Given the description of an element on the screen output the (x, y) to click on. 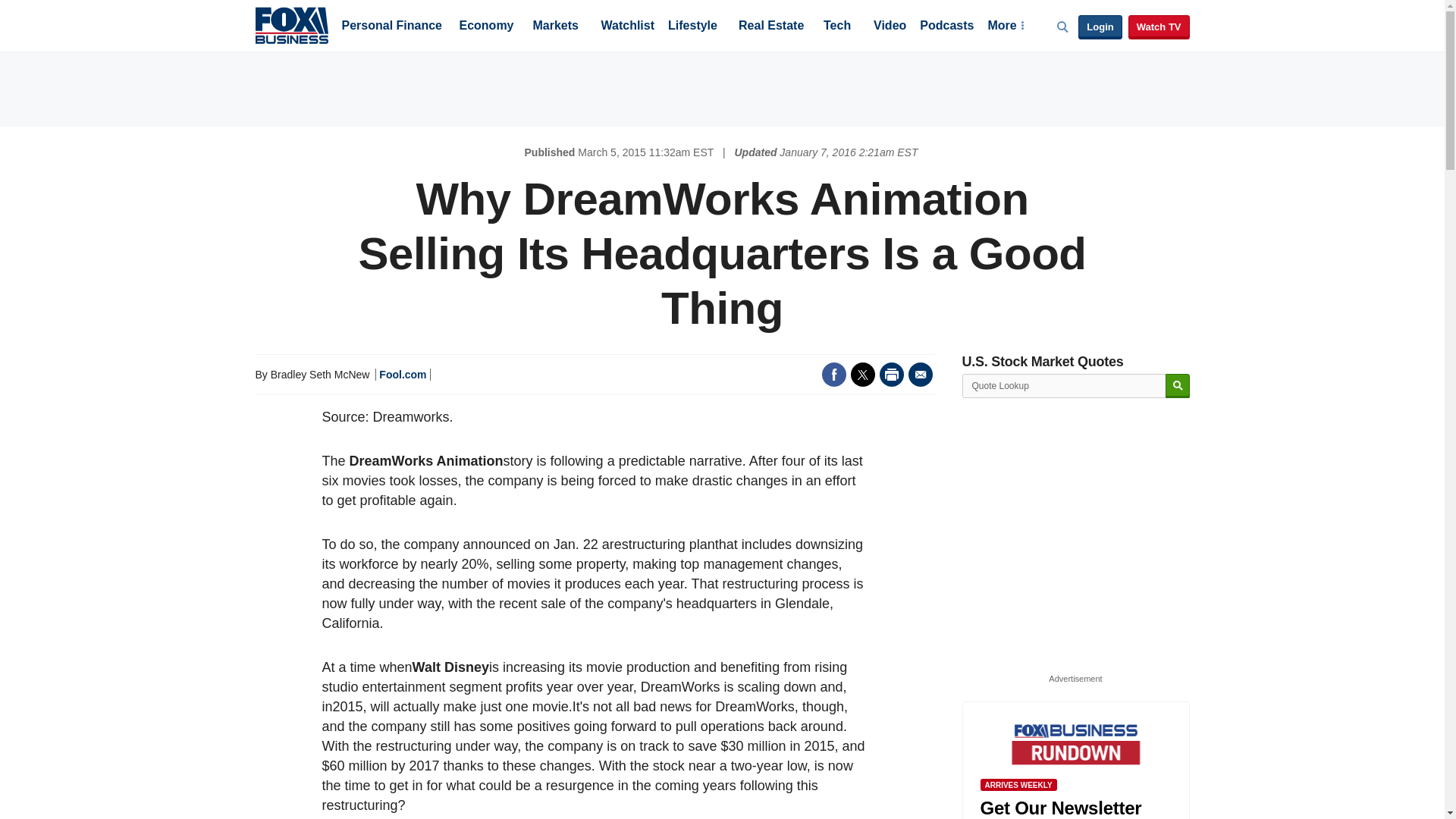
Podcasts (947, 27)
Fox Business (290, 24)
Search (1176, 385)
Tech (837, 27)
Watch TV (1158, 27)
Watchlist (626, 27)
Economy (486, 27)
Personal Finance (391, 27)
Real Estate (770, 27)
Login (1099, 27)
More (1005, 27)
Lifestyle (692, 27)
Video (889, 27)
Markets (555, 27)
Search (1176, 385)
